Given the description of an element on the screen output the (x, y) to click on. 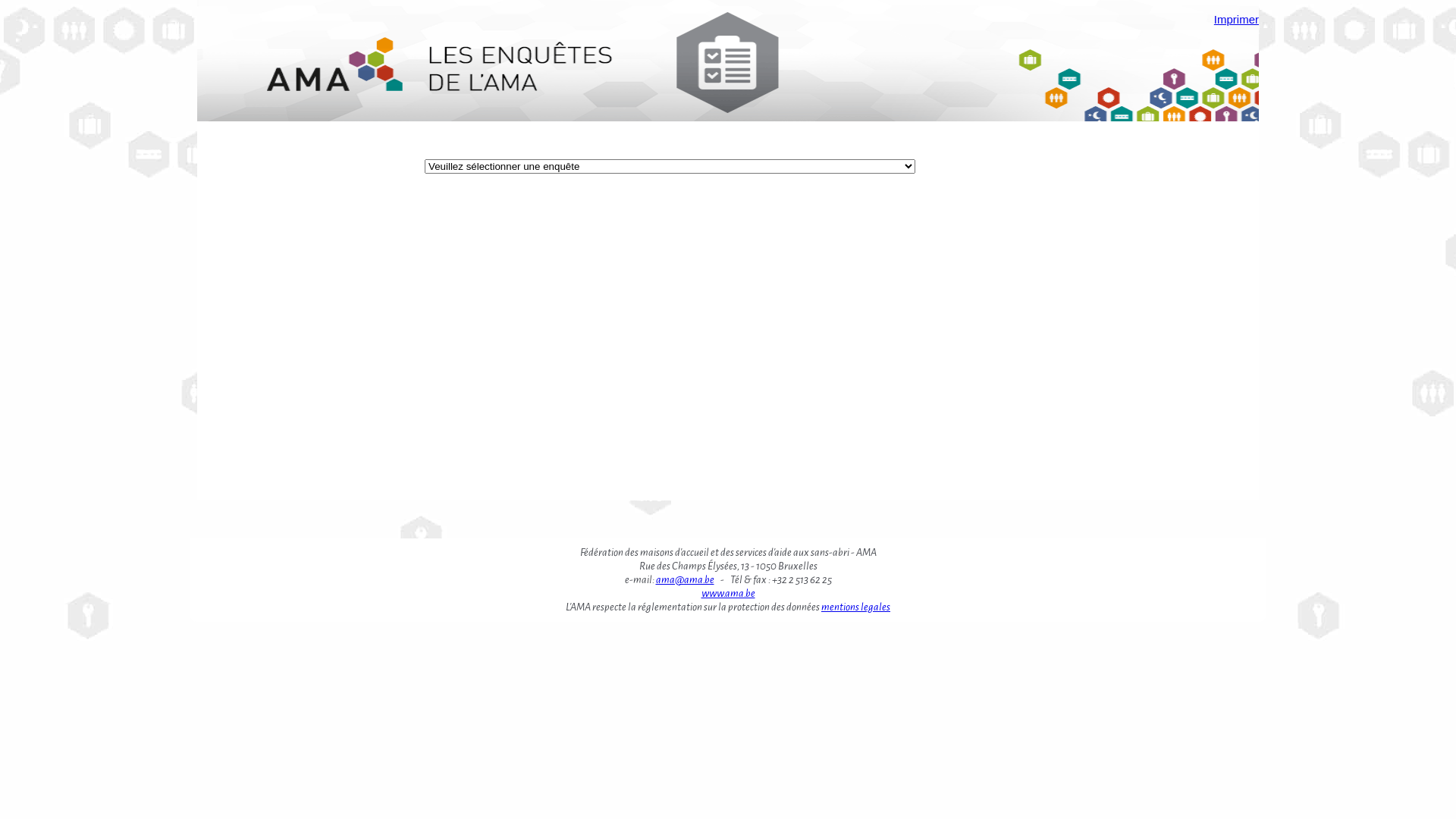
www.ama.be Element type: text (727, 593)
mentions legales Element type: text (855, 606)
Imprimer Element type: text (1236, 18)
ama@ama.be Element type: text (684, 579)
